Given the description of an element on the screen output the (x, y) to click on. 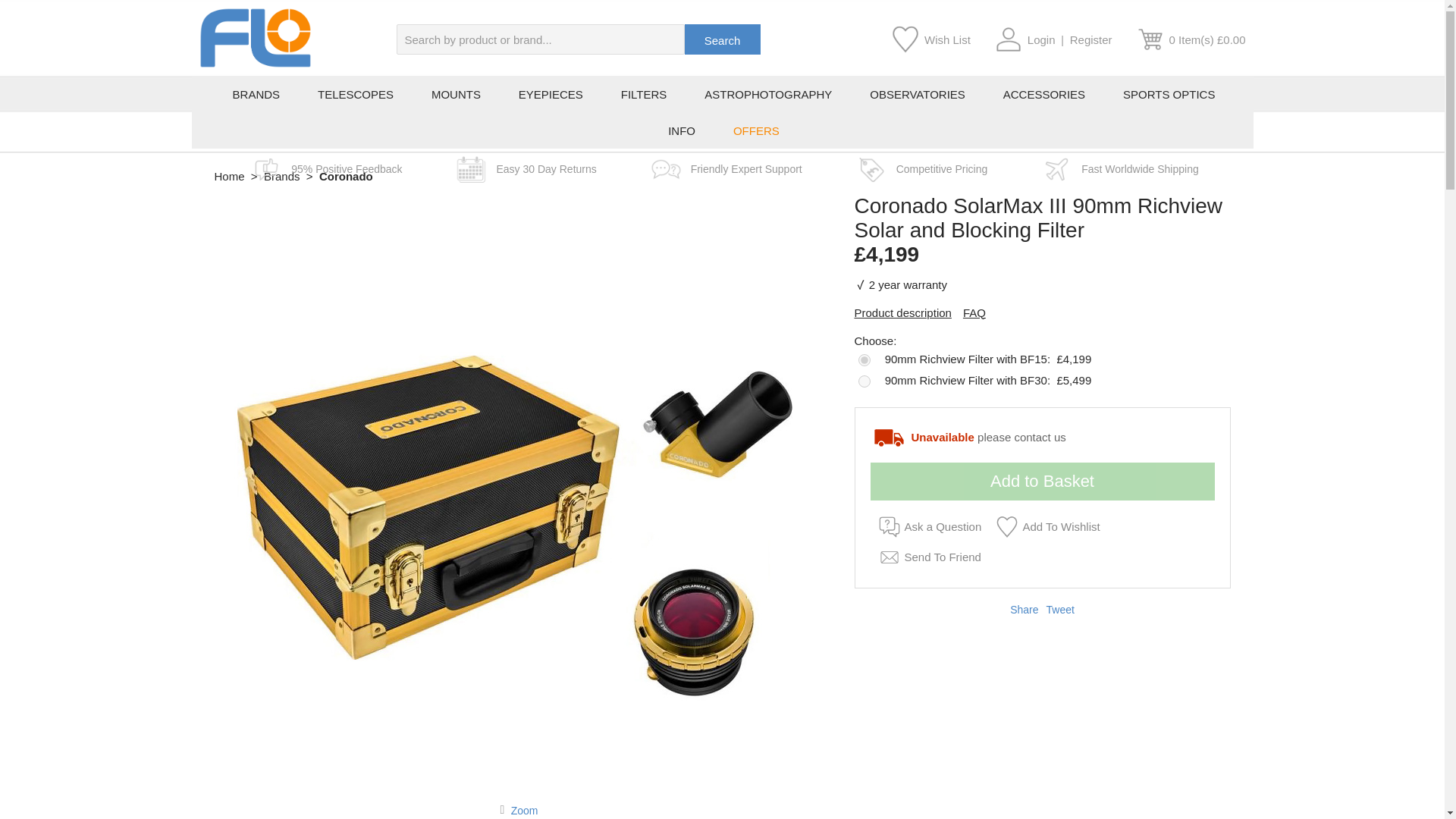
Add to Basket (1042, 481)
Home (229, 175)
Ask a Question (927, 526)
Product description (901, 312)
Coronado (345, 175)
FAQ (973, 312)
Product description (901, 312)
Zoom (524, 809)
Send To A Friend (926, 556)
Search (722, 39)
Add To Wishlist (1045, 526)
Share (1024, 609)
Tweet (1060, 609)
